Given the description of an element on the screen output the (x, y) to click on. 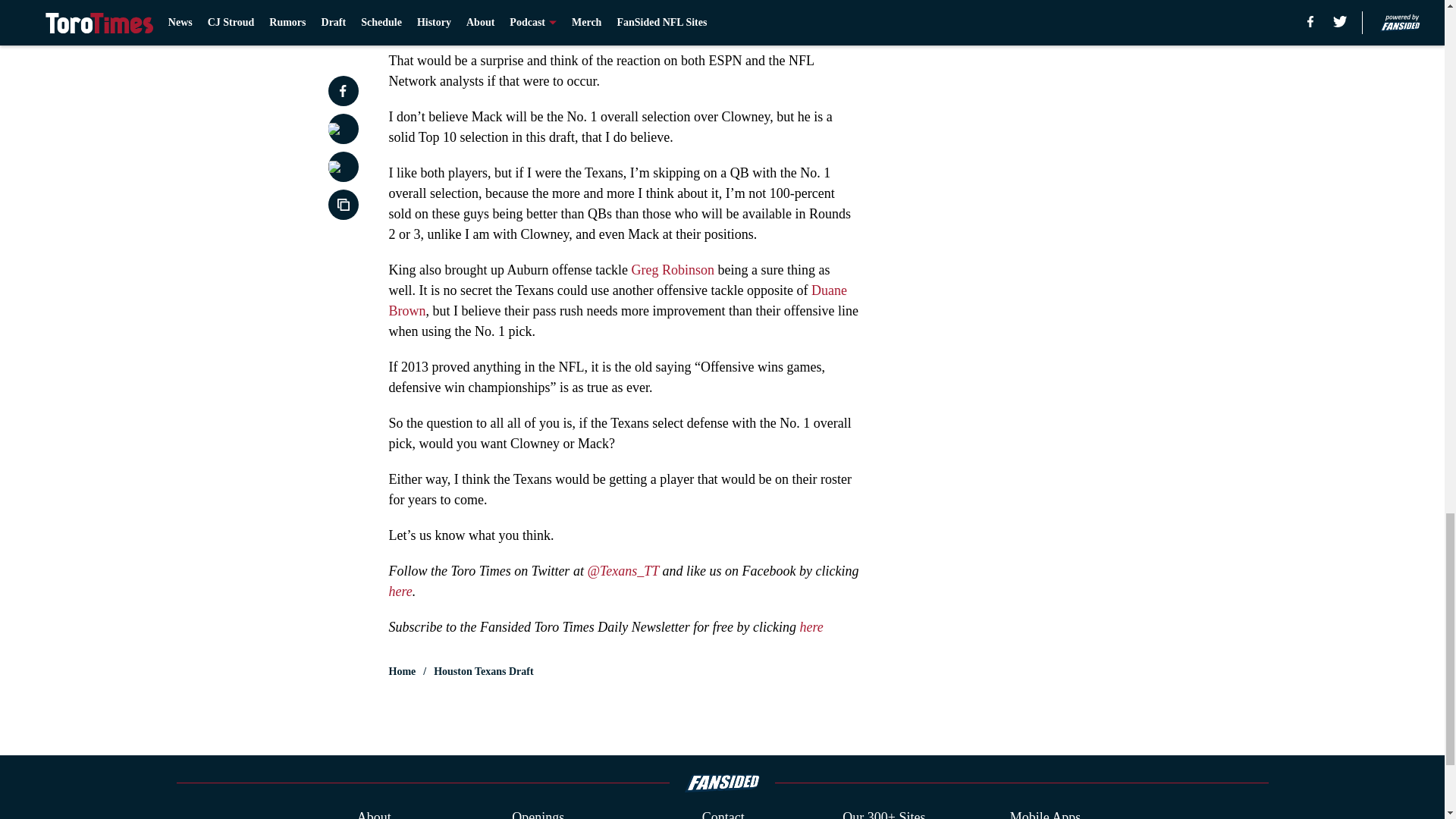
Mobile Apps (1045, 813)
Houston Texans Draft (482, 671)
here (810, 626)
Openings (538, 813)
Duane Brown (616, 300)
About (373, 813)
Home (401, 671)
here (400, 590)
Greg Robinson (672, 269)
Contact (722, 813)
